Given the description of an element on the screen output the (x, y) to click on. 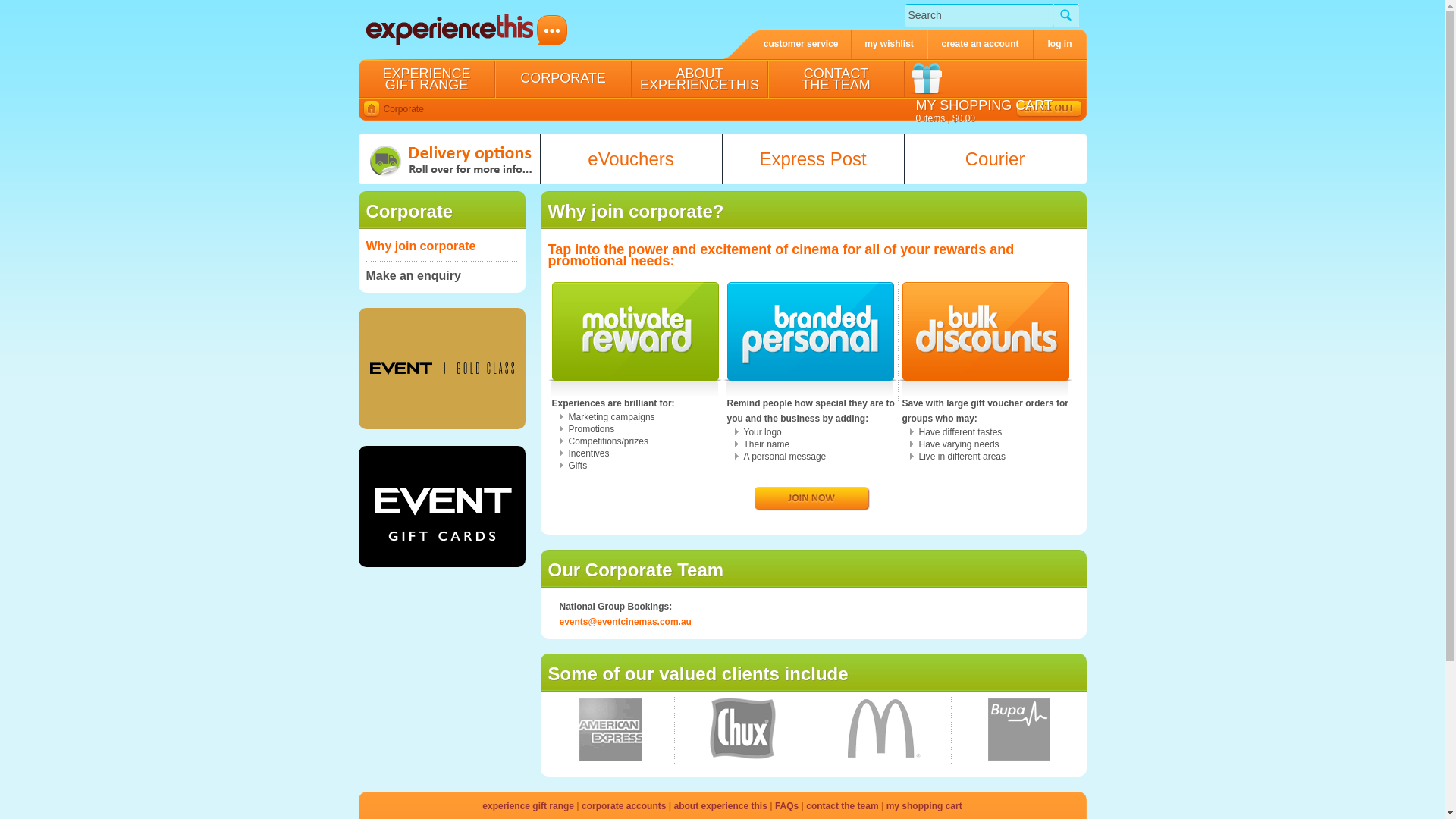
contact the team Element type: text (843, 805)
Express Post Element type: text (812, 158)
Why join corporate Element type: text (441, 245)
experience gift range Element type: text (529, 805)
eVouchers Element type: text (630, 158)
CORPORATE Element type: text (562, 78)
log in Element type: text (1058, 44)
EXPERIENCE
GIFT RANGE Element type: text (425, 78)
ABOUT
EXPERIENCETHIS Element type: text (698, 78)
create an account Element type: text (979, 44)
Make an enquiry Element type: text (441, 275)
customer service Element type: text (787, 44)
my wishlist Element type: text (888, 44)
FAQs Element type: text (788, 805)
CONTACT
THE TEAM Element type: text (835, 78)
about experience this Element type: text (721, 805)
events@eventcinemas.com.au Element type: text (625, 621)
my shopping cart Element type: text (924, 805)
corporate accounts Element type: text (624, 805)
